Given the description of an element on the screen output the (x, y) to click on. 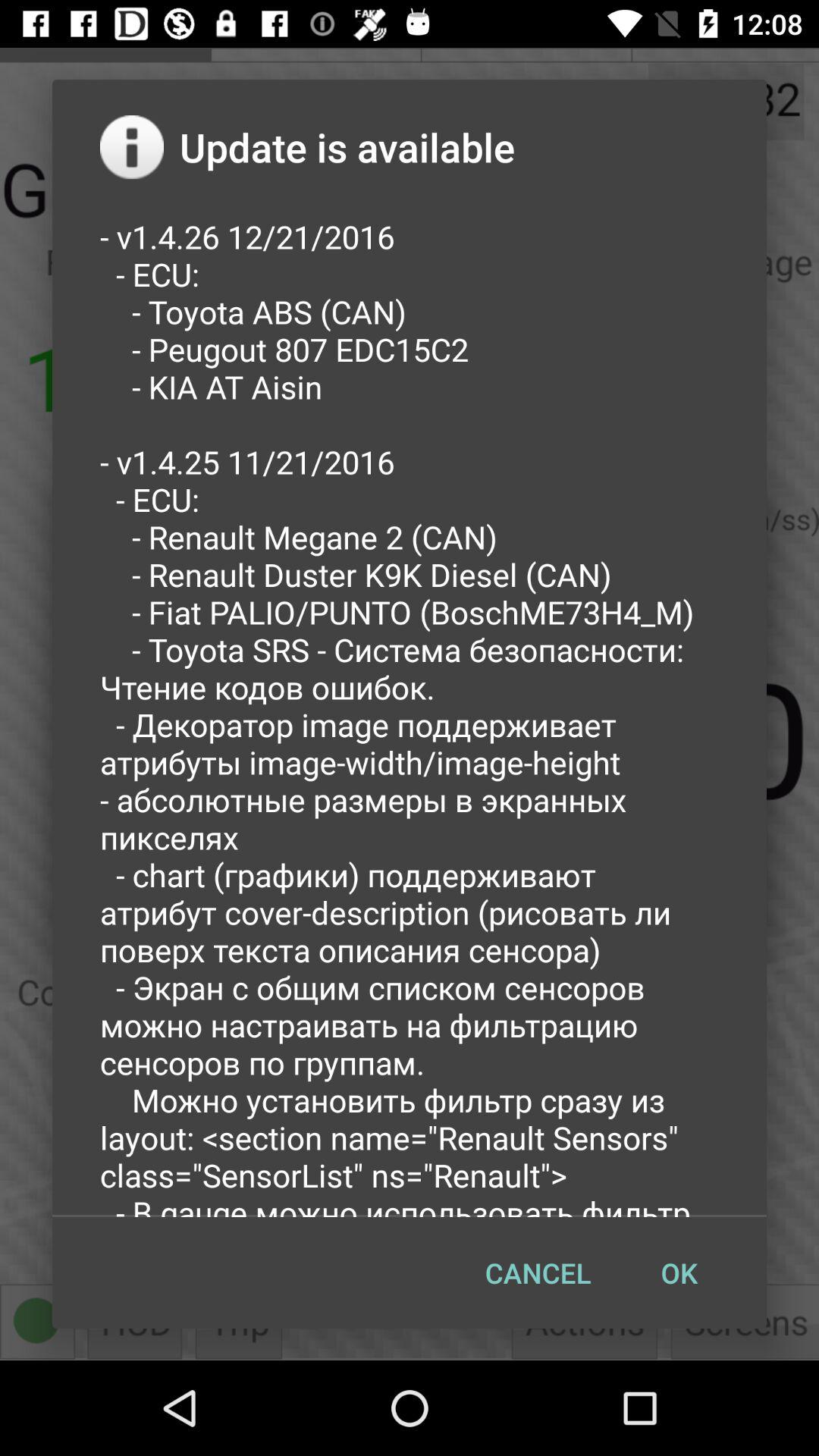
tap the cancel (538, 1272)
